Given the description of an element on the screen output the (x, y) to click on. 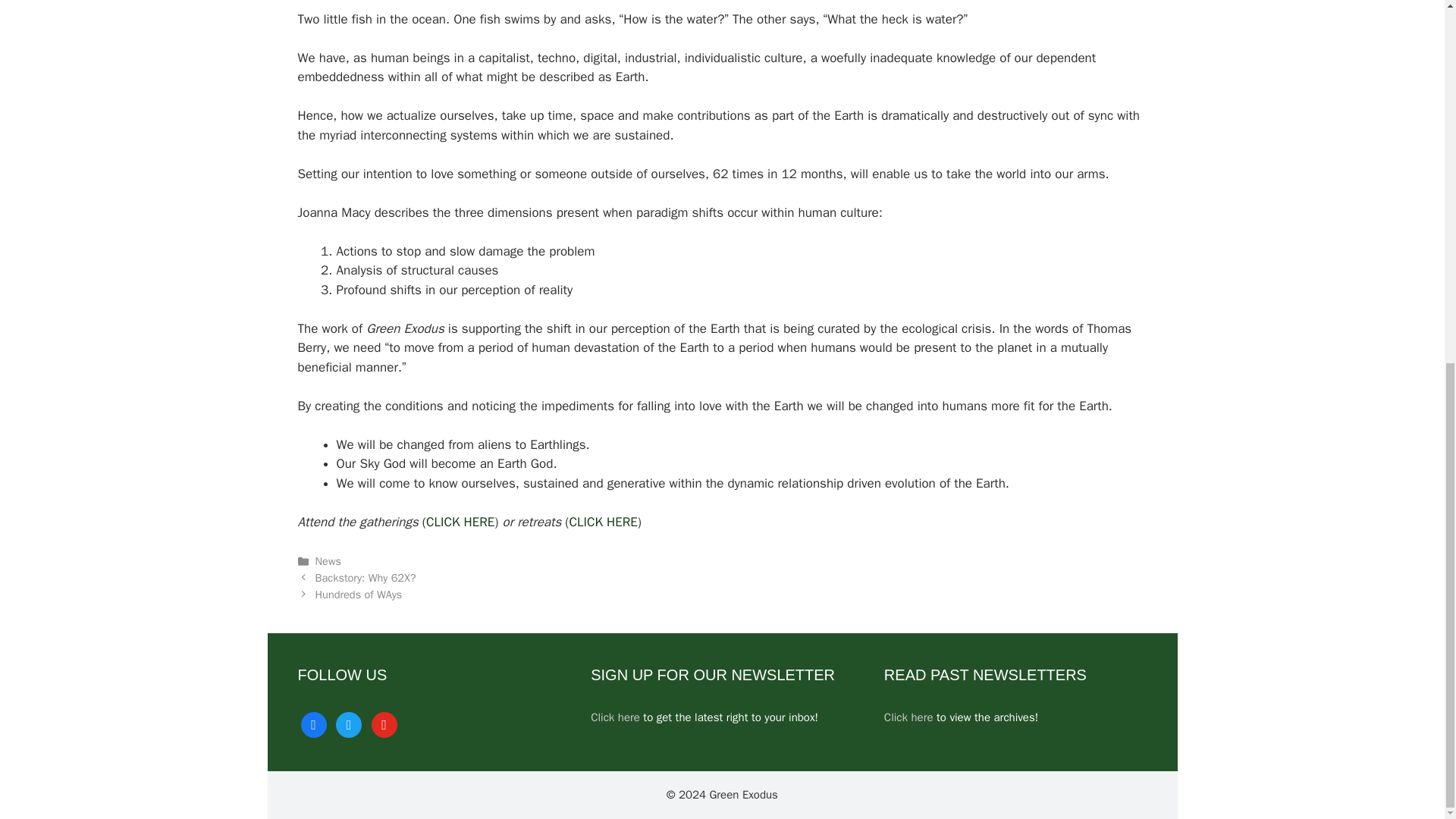
Twitter (348, 724)
Default Label (384, 724)
Facebook (312, 724)
